Given the description of an element on the screen output the (x, y) to click on. 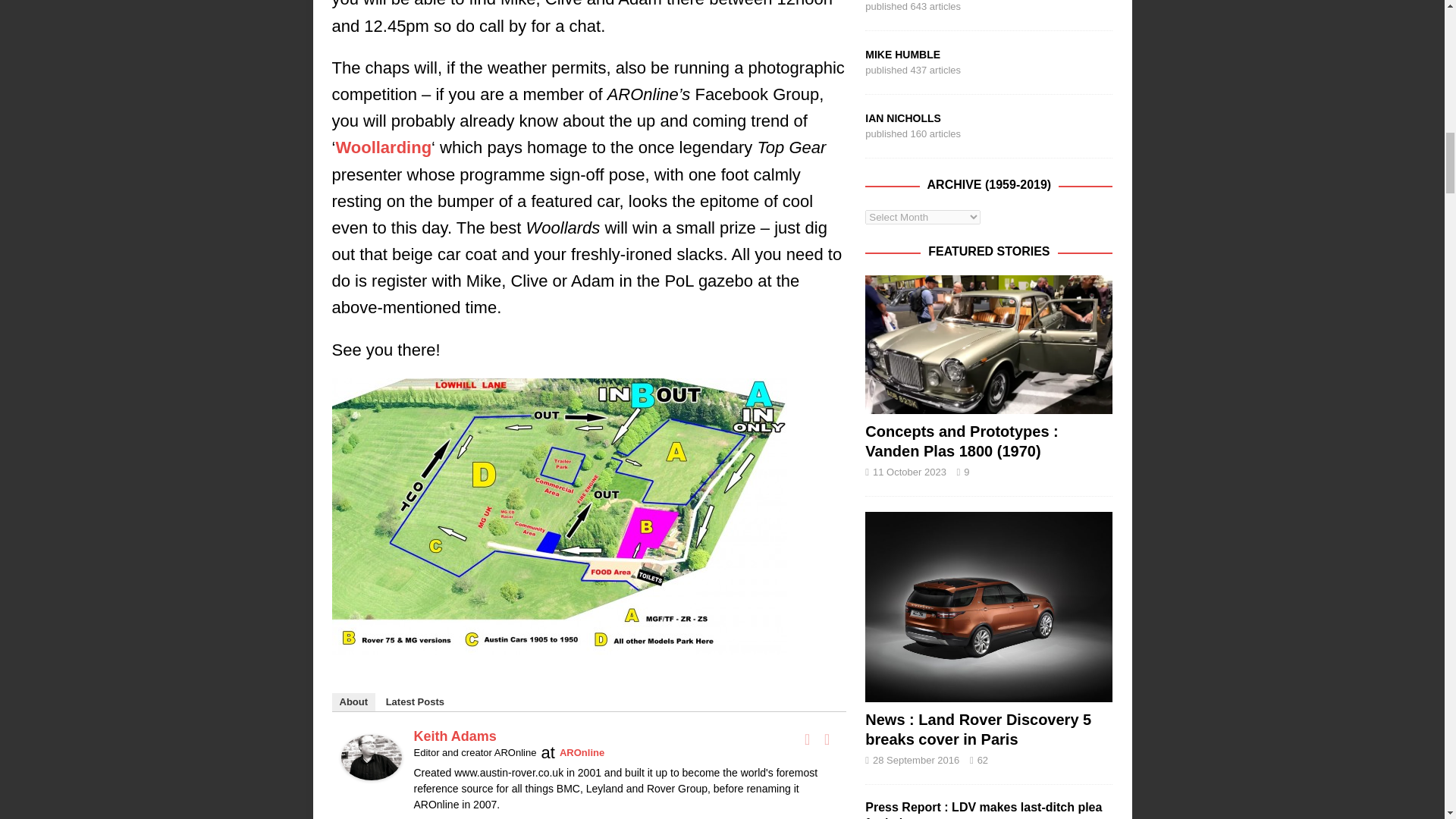
Facebook (806, 739)
Twitter (826, 739)
Keith Adams (370, 766)
